Given the description of an element on the screen output the (x, y) to click on. 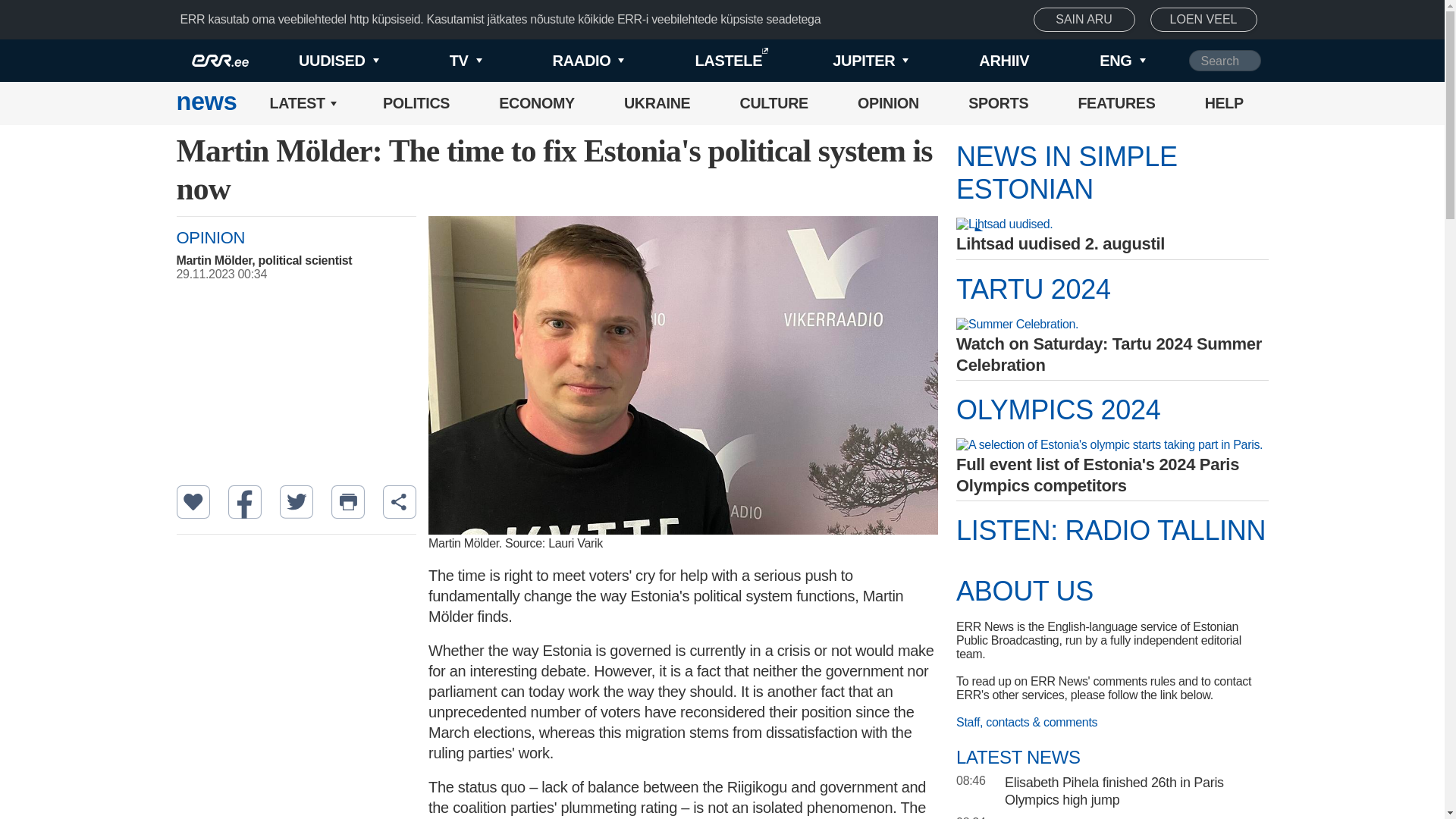
29.11.2023 00:34 (302, 274)
UUDISED (314, 60)
LOEN VEEL (1203, 19)
RAADIO (563, 60)
TV (440, 60)
SAIN ARU (1084, 19)
Avalehele (205, 103)
